Given the description of an element on the screen output the (x, y) to click on. 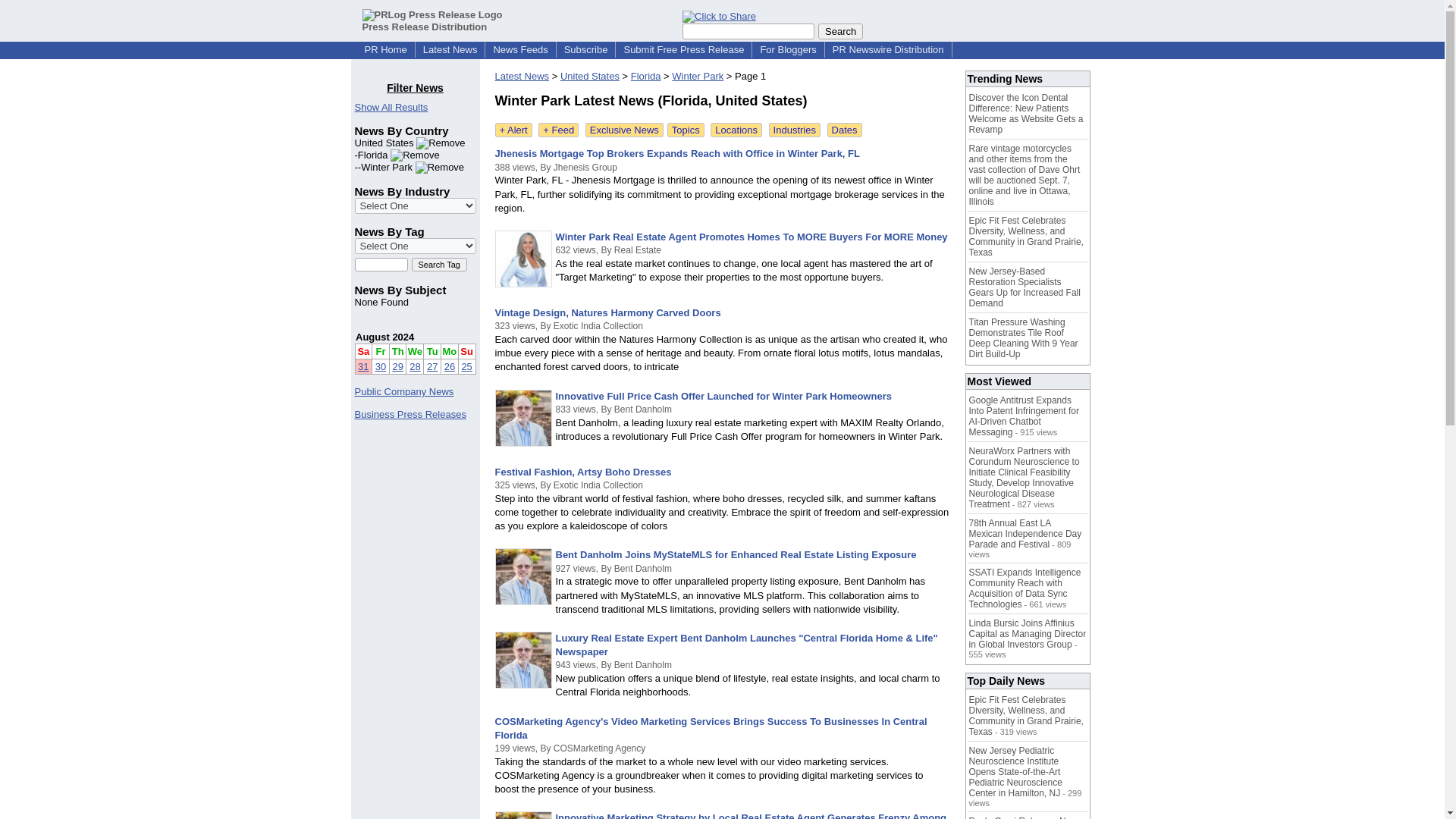
Latest News (449, 49)
Click on an option to filter or browse by that option (415, 205)
Search Tag (437, 264)
Click to see the index with all filters cleared (391, 107)
29 (397, 366)
Topics (685, 129)
Search Tag (437, 264)
Winter Park (697, 75)
Submit Free Press Release (683, 49)
